Given the description of an element on the screen output the (x, y) to click on. 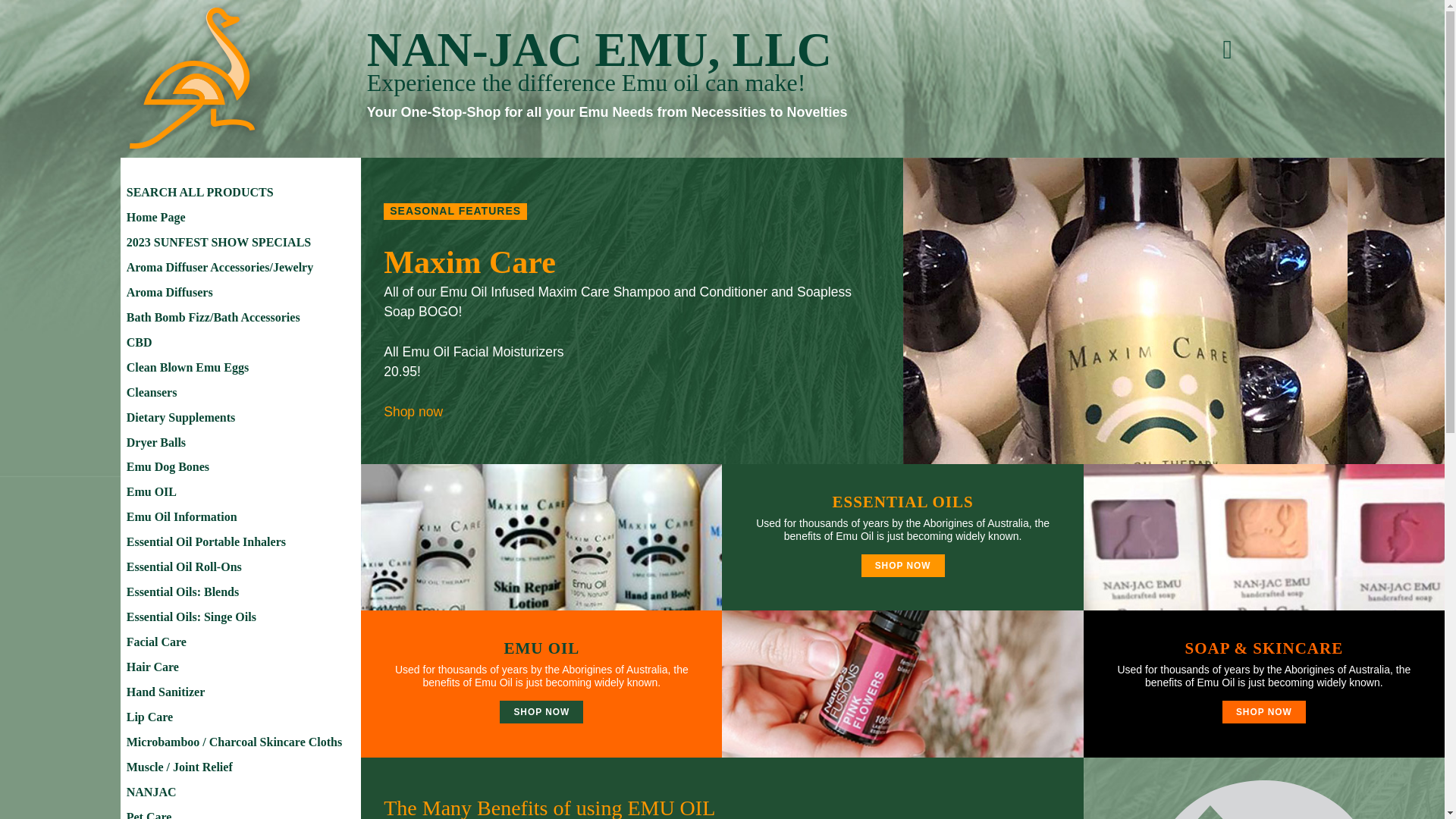
Cleansers (240, 392)
Emu OIL (240, 492)
Dryer Balls (240, 442)
Clean Blown Emu Eggs (240, 367)
Aroma Diffusers (240, 292)
2023 SUNFEST SHOW SPECIALS (240, 242)
Cleansers (240, 392)
2023 SUNFEST SHOW SPECIALS (240, 242)
Hair Care (240, 667)
Essential Oils: Blends (240, 592)
